Given the description of an element on the screen output the (x, y) to click on. 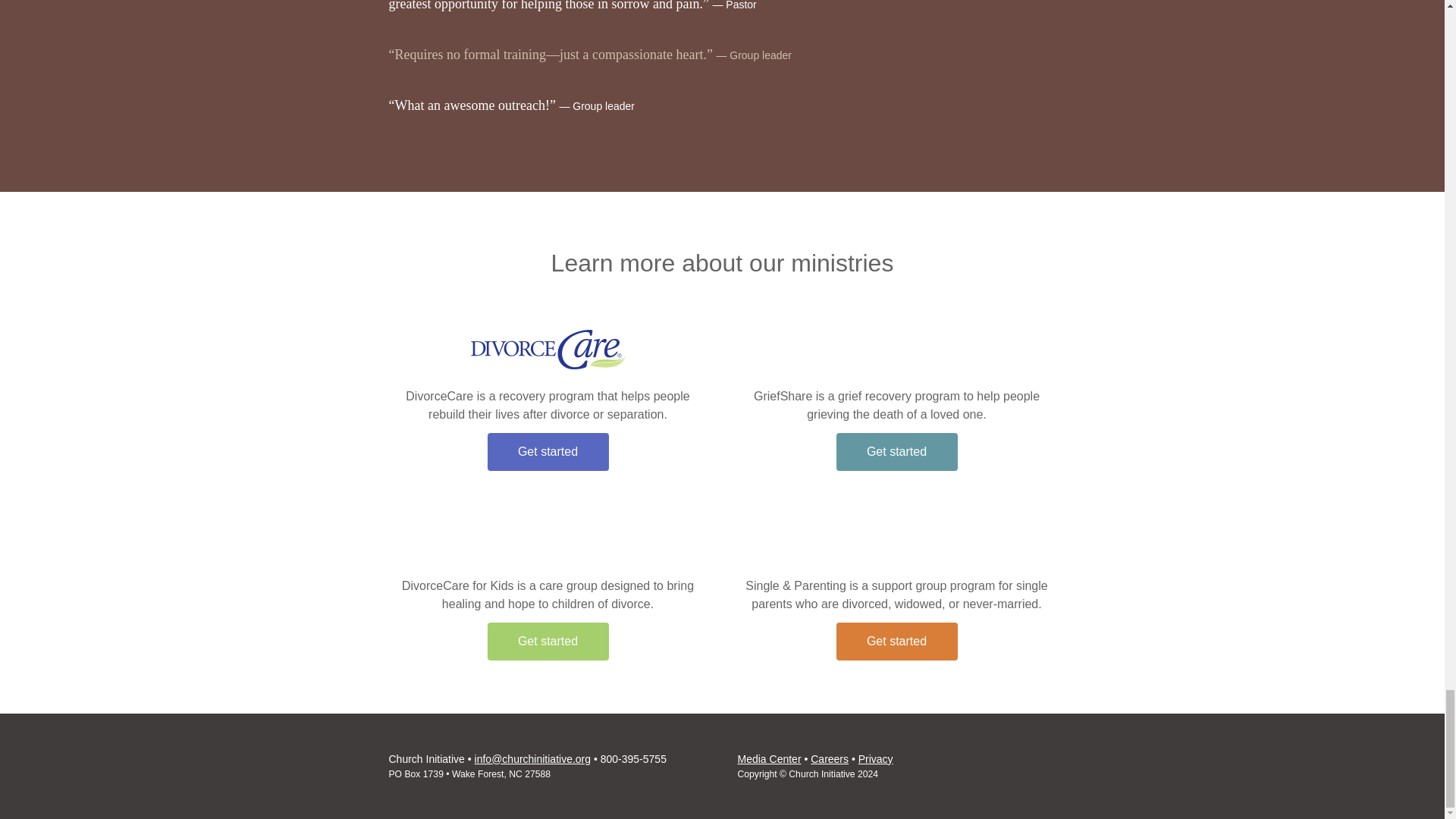
Get started (895, 641)
Get started (547, 641)
Get started (547, 451)
Media Center (768, 758)
Privacy (876, 758)
Get started (895, 451)
Careers (829, 758)
